Given the description of an element on the screen output the (x, y) to click on. 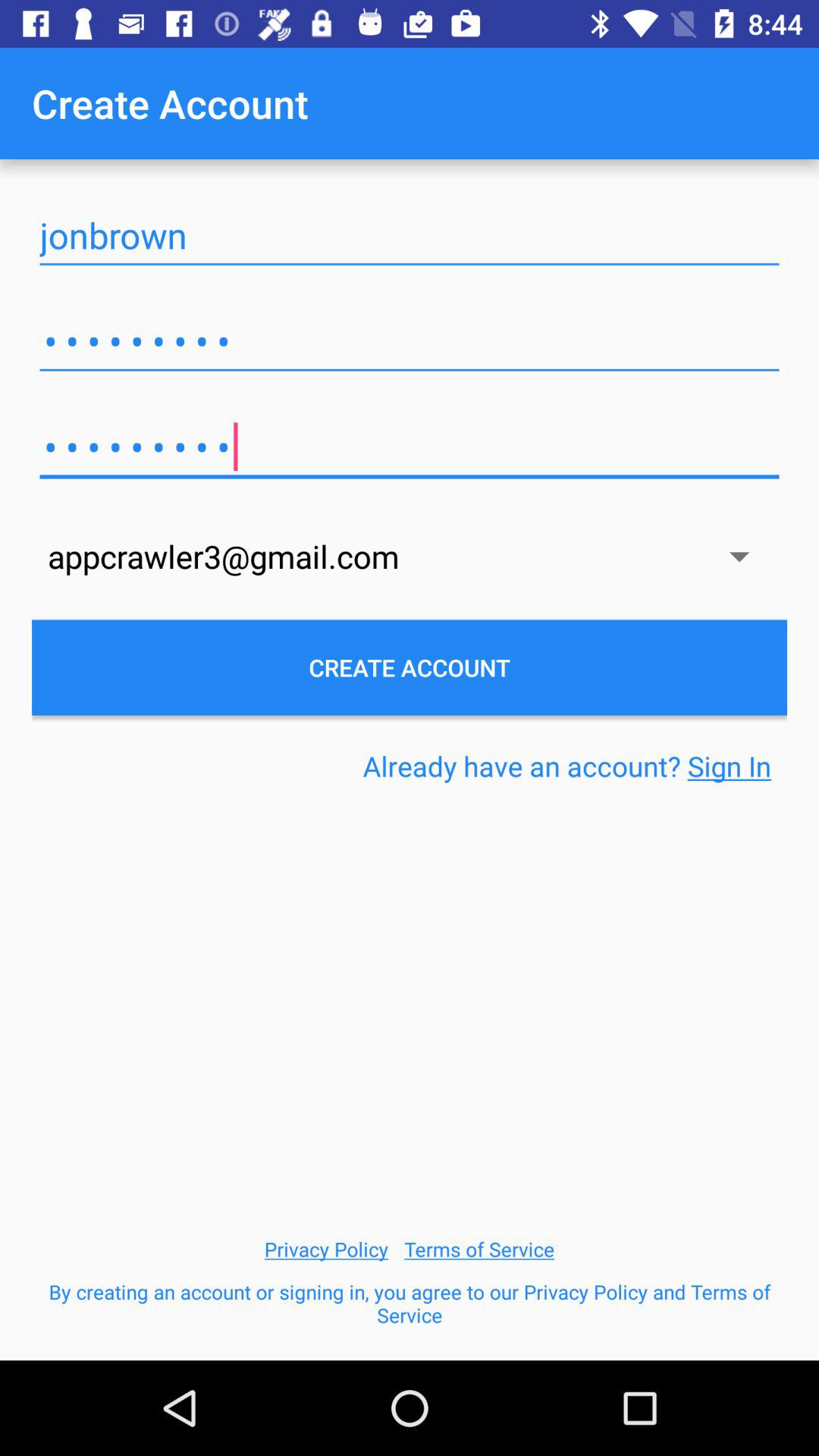
open item on the right (566, 765)
